Given the description of an element on the screen output the (x, y) to click on. 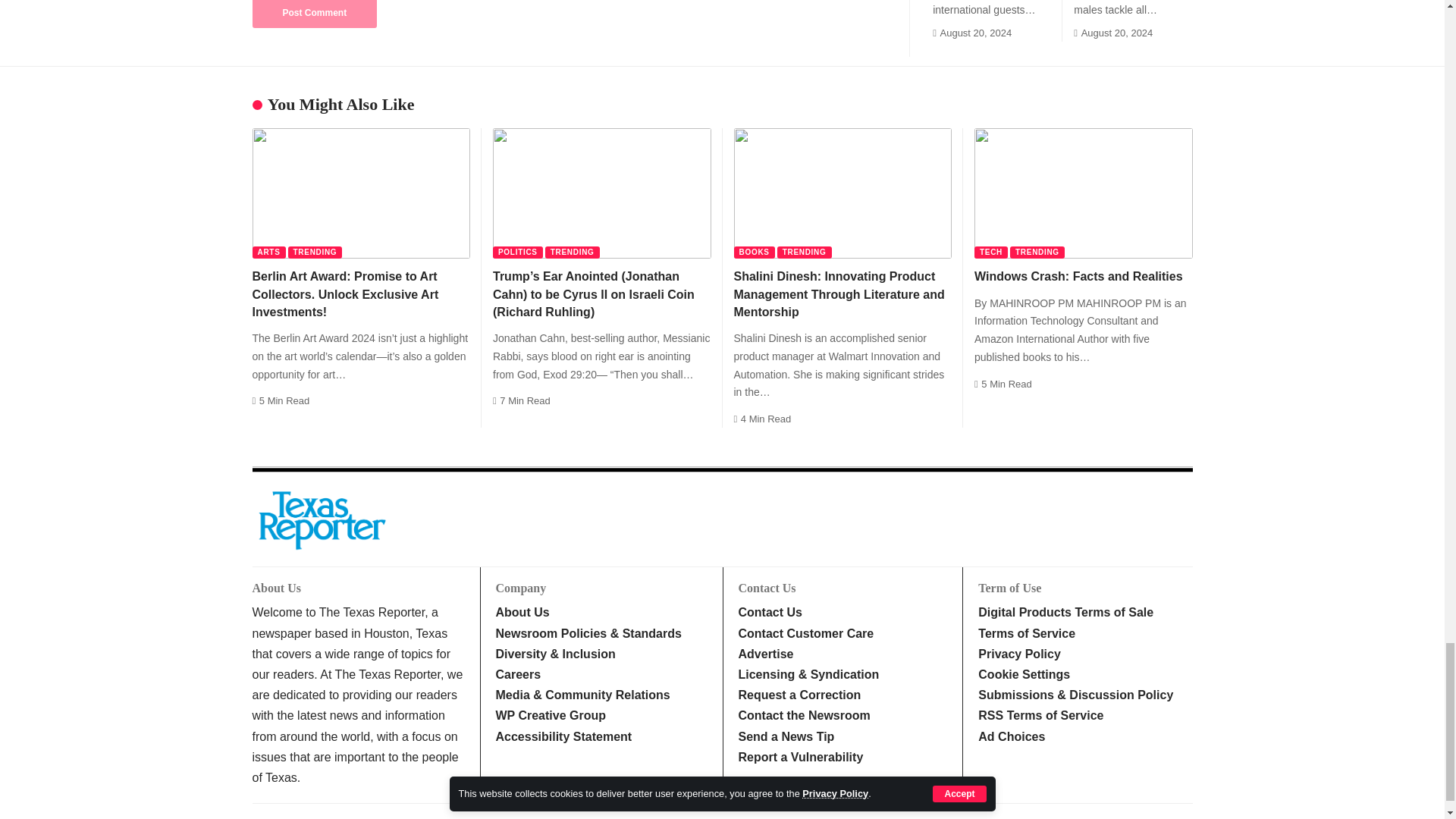
Windows Crash: Facts and Realities (1083, 193)
Post Comment (314, 13)
